Given the description of an element on the screen output the (x, y) to click on. 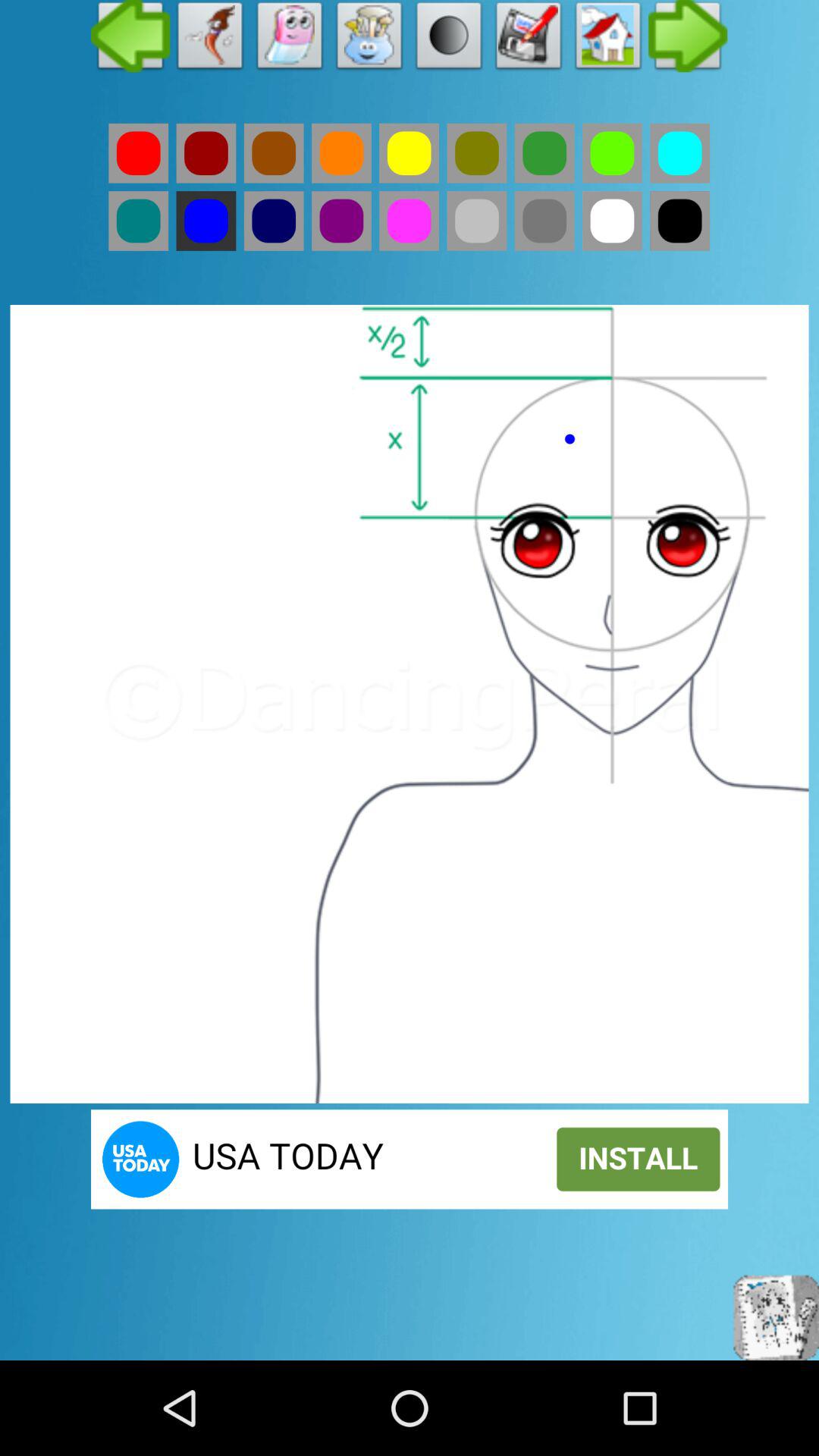
previous page (130, 39)
